Given the description of an element on the screen output the (x, y) to click on. 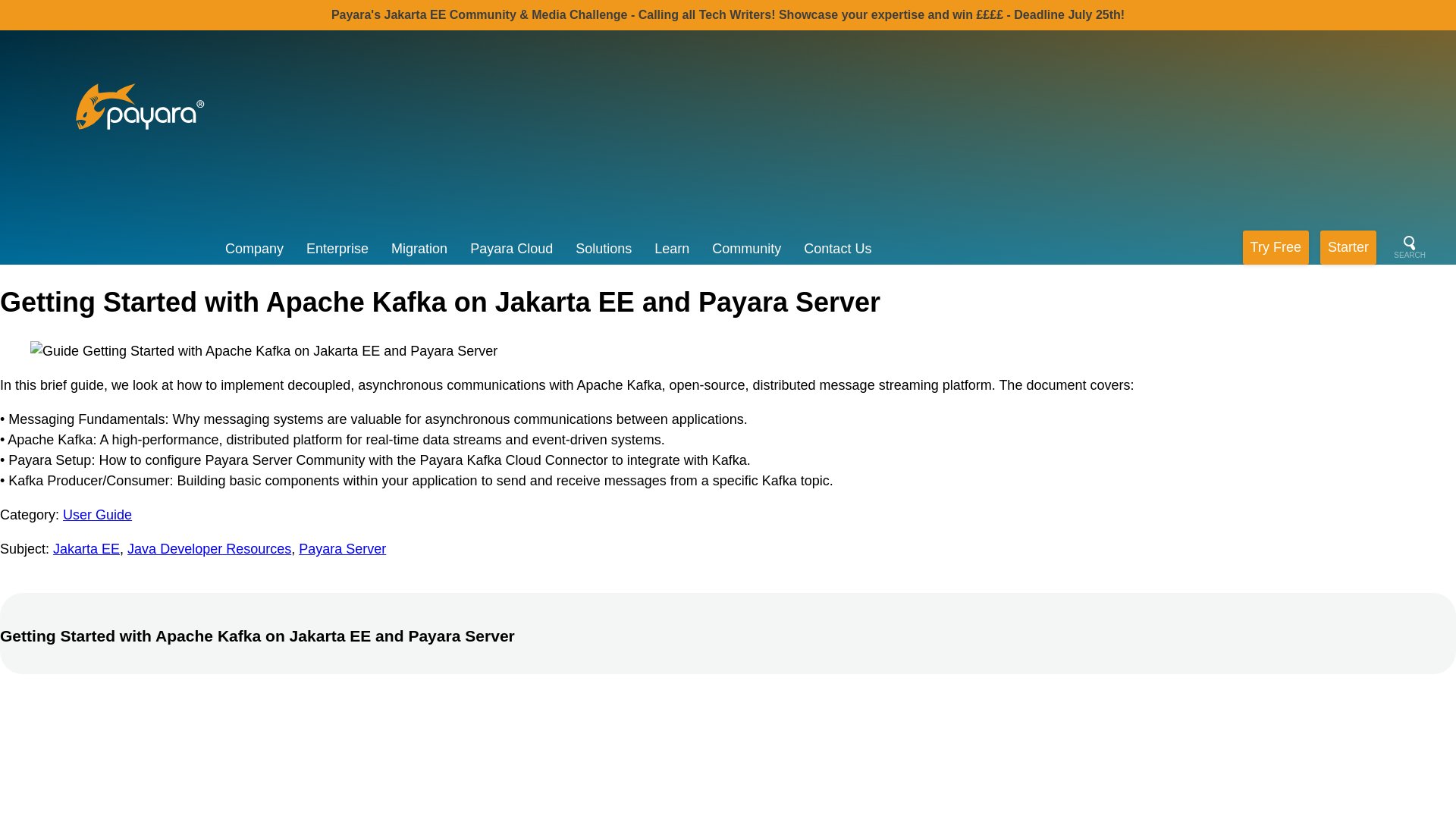
Solutions (609, 248)
Payara Cloud (517, 248)
Migration (425, 248)
Enterprise (342, 248)
Company (260, 248)
